Given the description of an element on the screen output the (x, y) to click on. 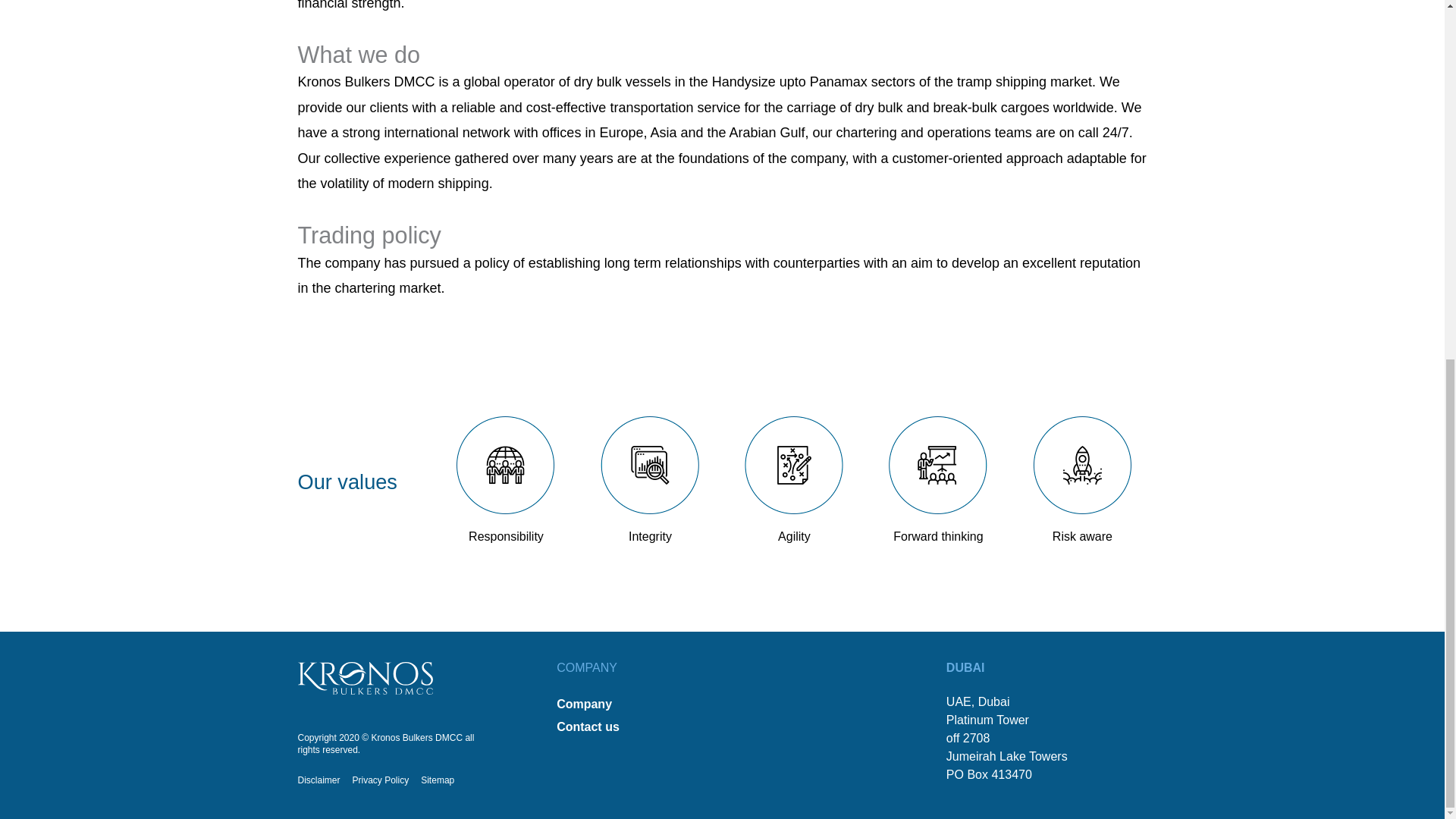
Sitemap (437, 780)
Privacy Policy (380, 780)
Disclaimer (318, 780)
Contact us (631, 726)
Company (631, 703)
